Given the description of an element on the screen output the (x, y) to click on. 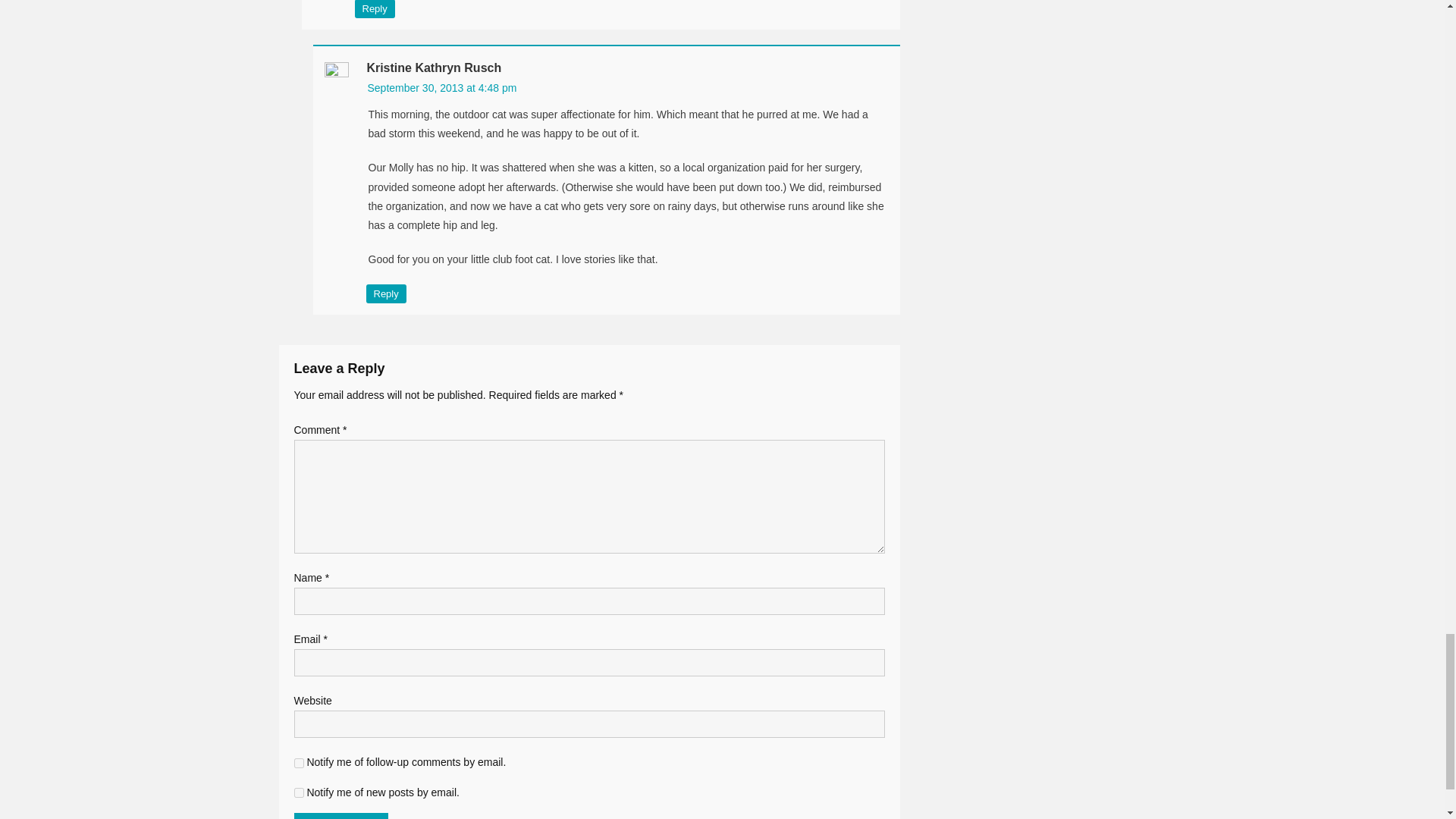
subscribe (299, 763)
subscribe (299, 792)
Post Comment (341, 816)
